Given the description of an element on the screen output the (x, y) to click on. 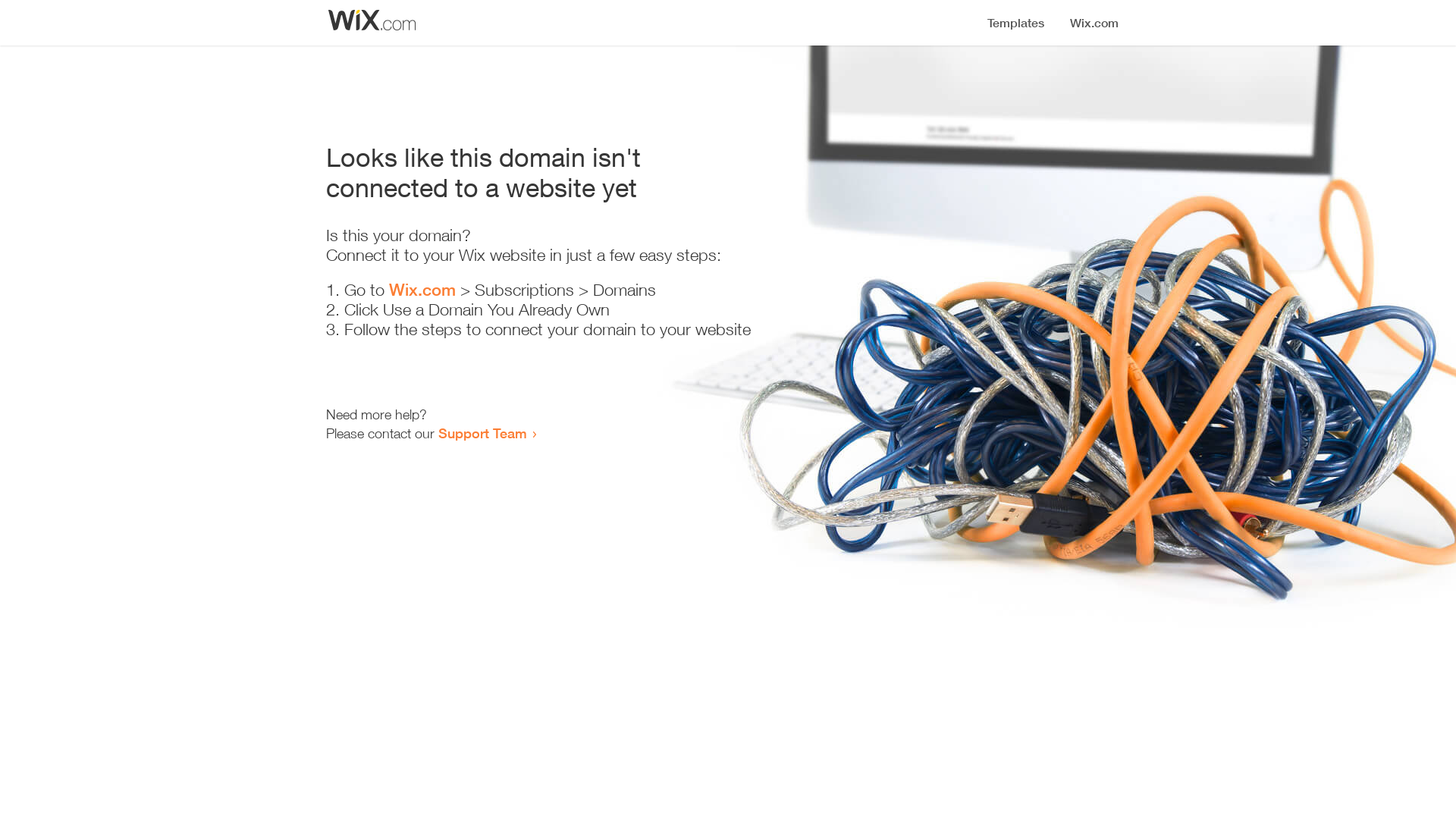
Support Team Element type: text (482, 432)
Wix.com Element type: text (422, 289)
